Given the description of an element on the screen output the (x, y) to click on. 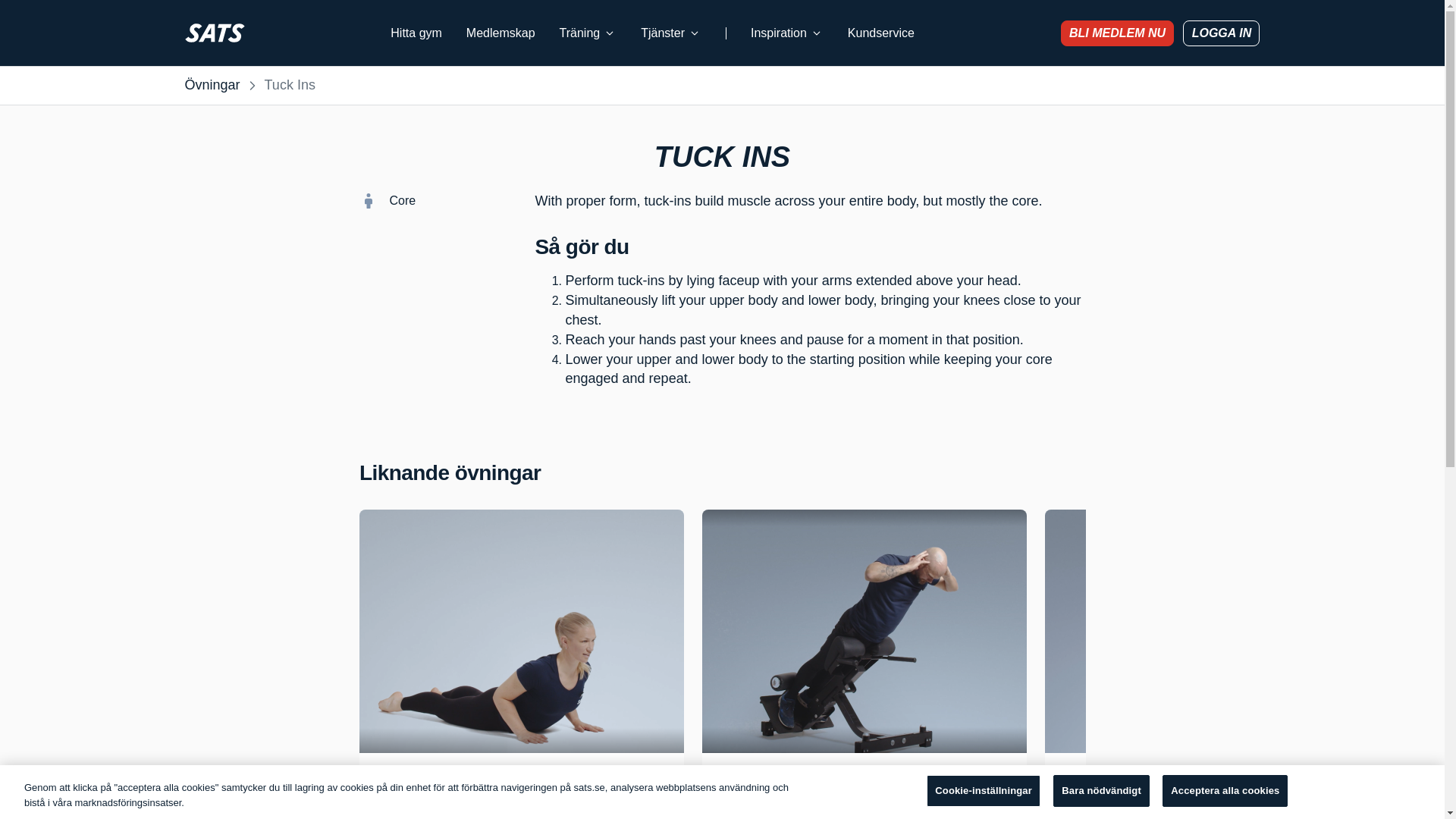
Inspiration (787, 33)
Kundservice (880, 33)
Medlemskap (500, 33)
